Given the description of an element on the screen output the (x, y) to click on. 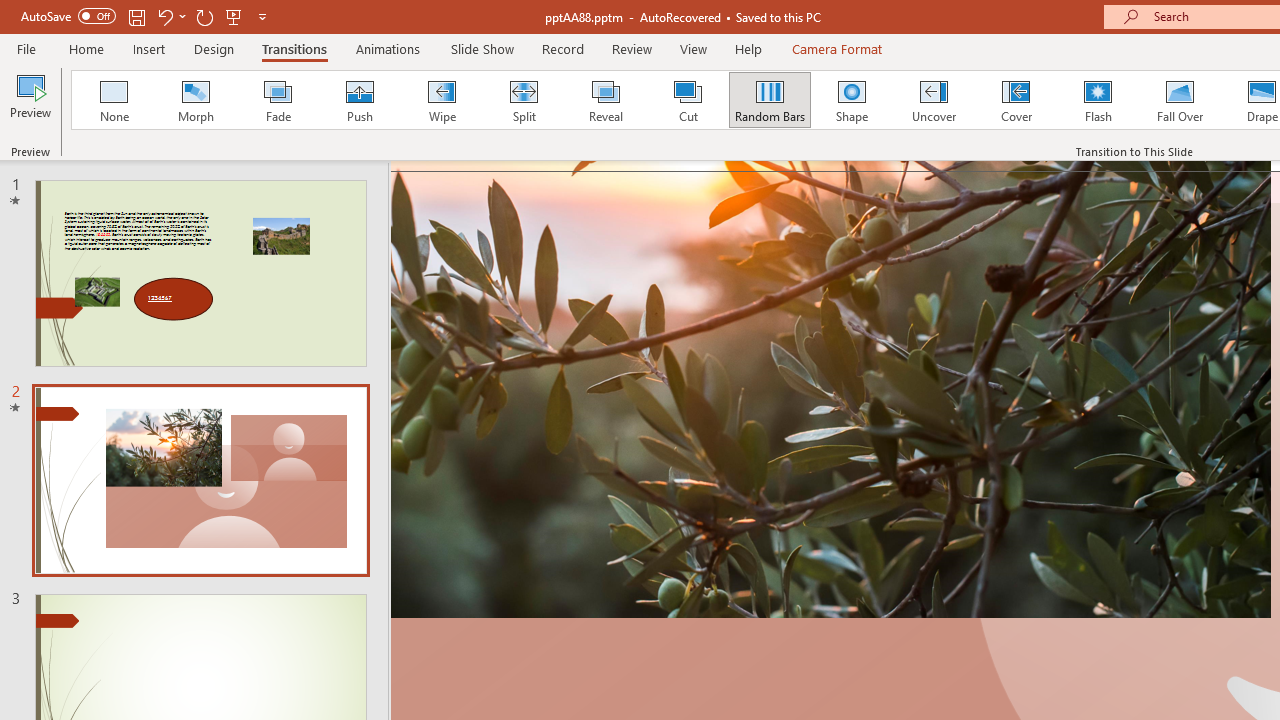
Push (359, 100)
Fall Over (1180, 100)
Split (523, 100)
Wipe (441, 100)
Shape (852, 100)
Uncover (934, 100)
Close up of an olive branch on a sunset (830, 389)
